Given the description of an element on the screen output the (x, y) to click on. 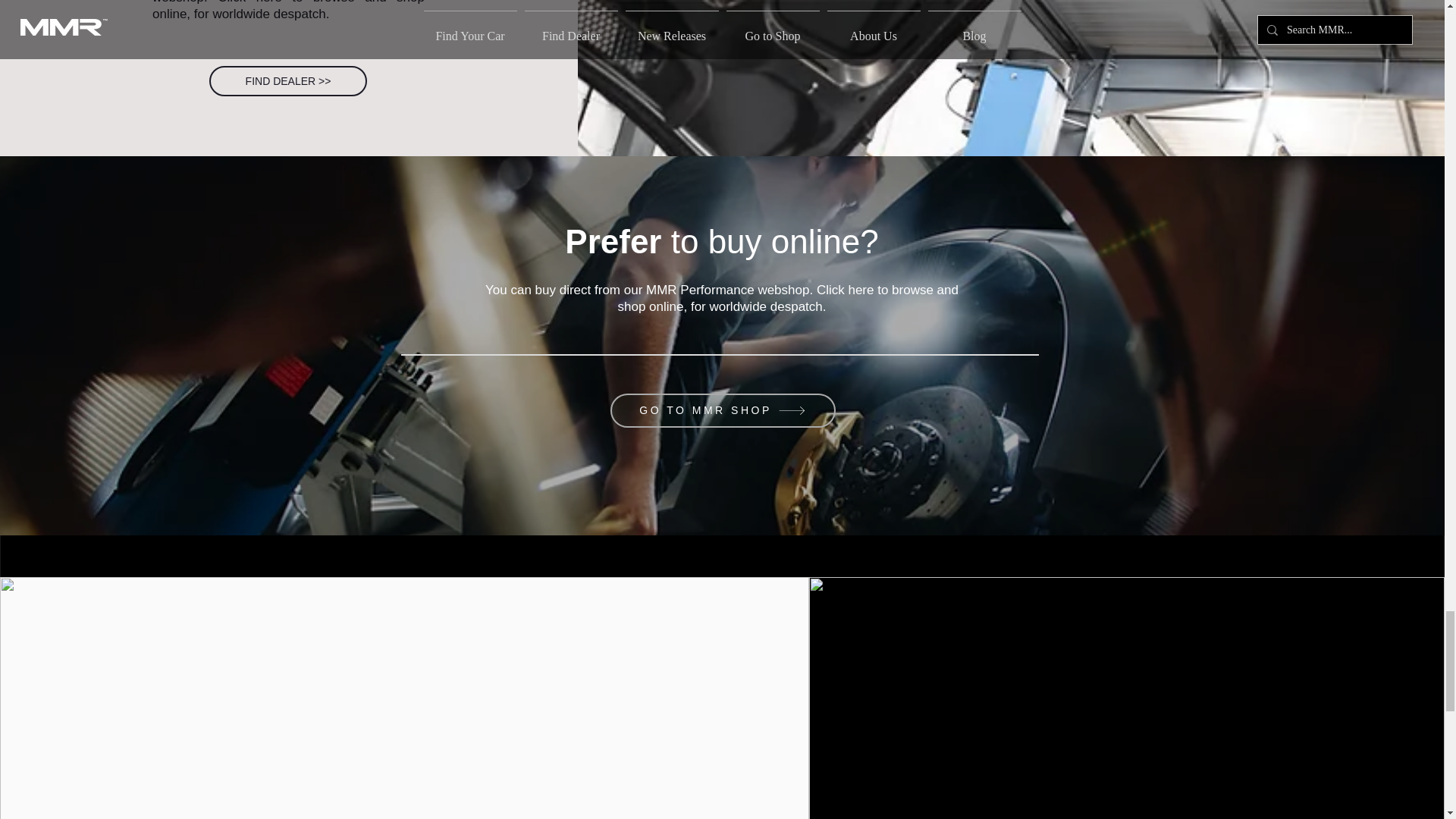
GO TO MMR SHOP (722, 410)
